Given the description of an element on the screen output the (x, y) to click on. 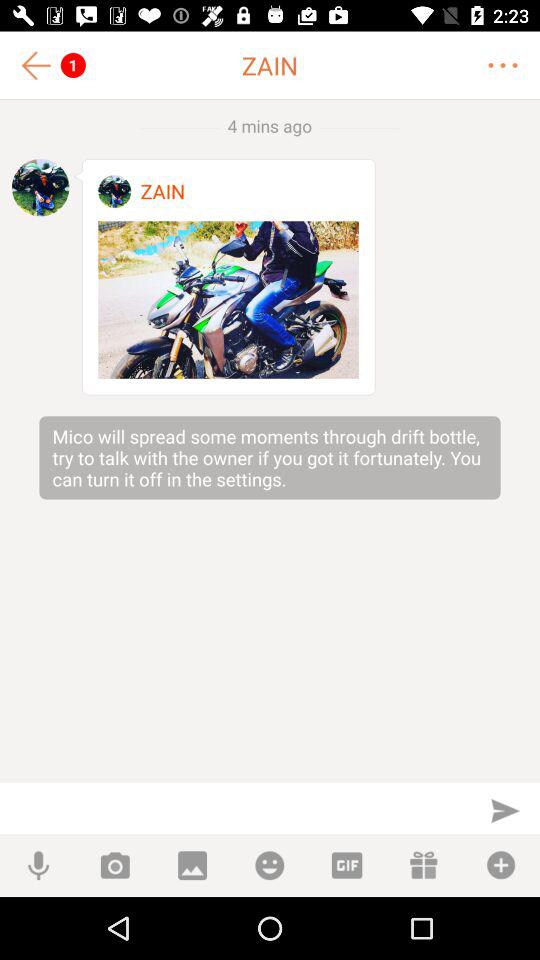
add a gif (346, 865)
